Given the description of an element on the screen output the (x, y) to click on. 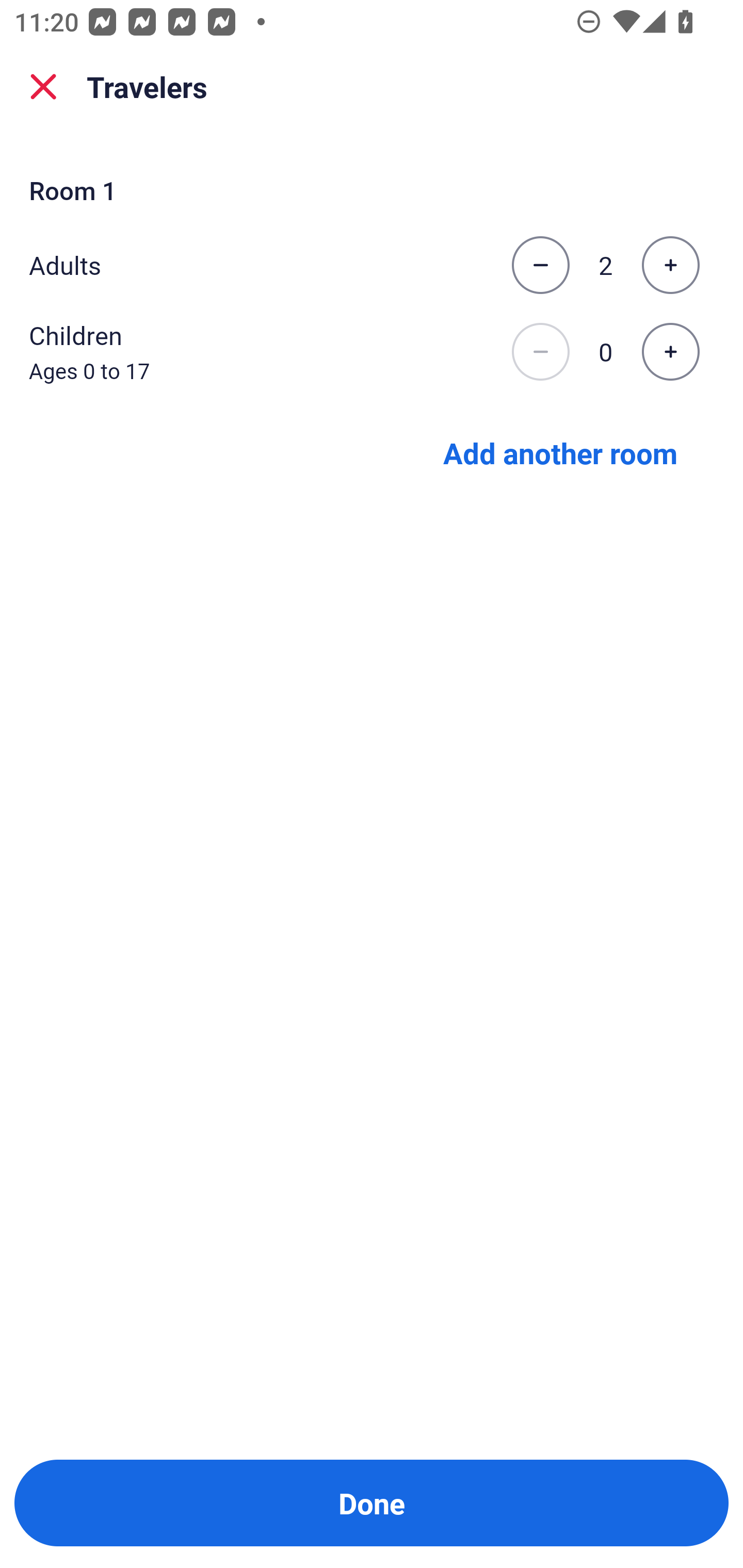
close (43, 86)
Decrease the number of adults (540, 264)
Increase the number of adults (670, 264)
Decrease the number of children (540, 351)
Increase the number of children (670, 351)
Add another room (560, 452)
Done (371, 1502)
